Given the description of an element on the screen output the (x, y) to click on. 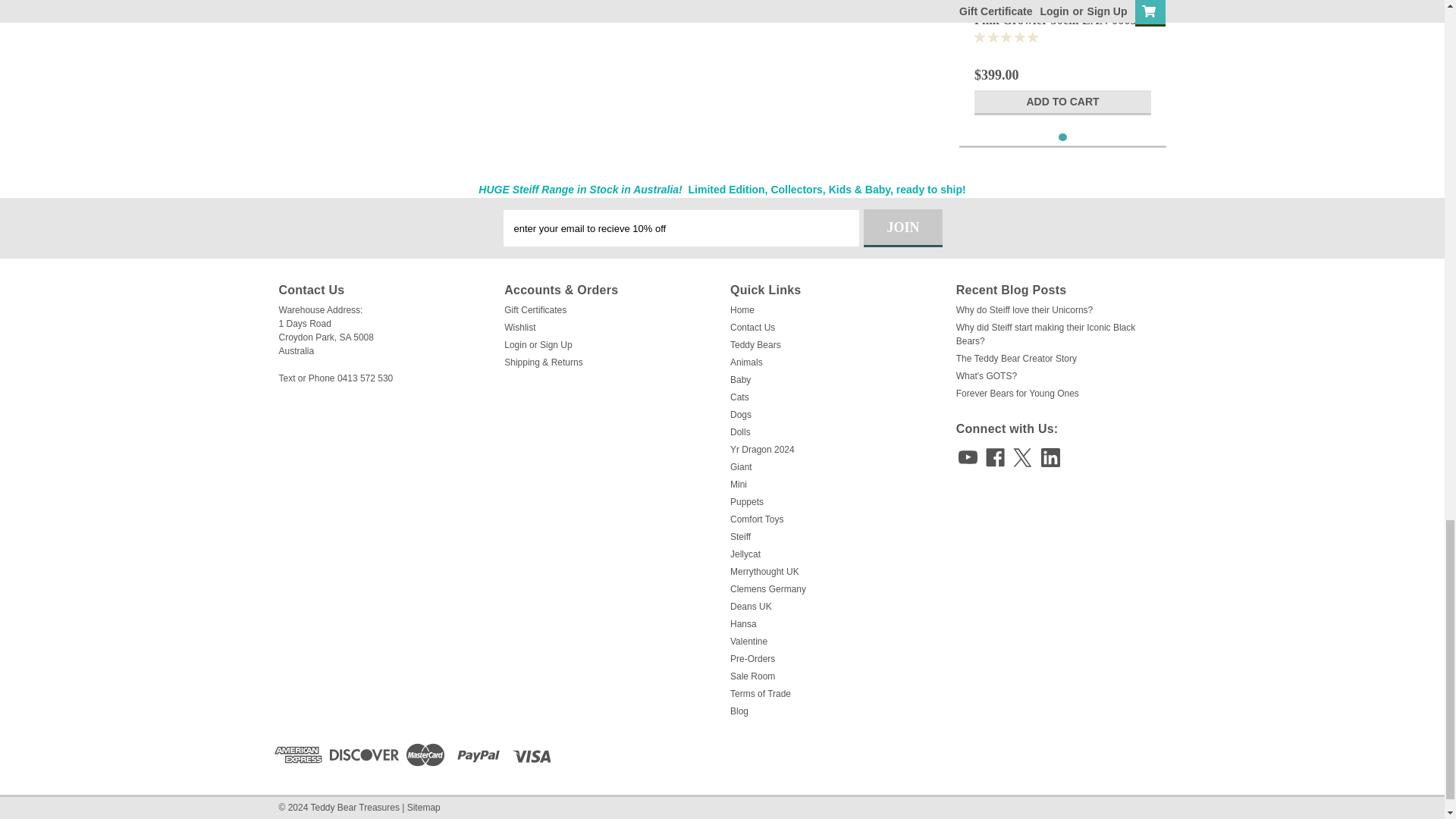
Join (902, 228)
